Given the description of an element on the screen output the (x, y) to click on. 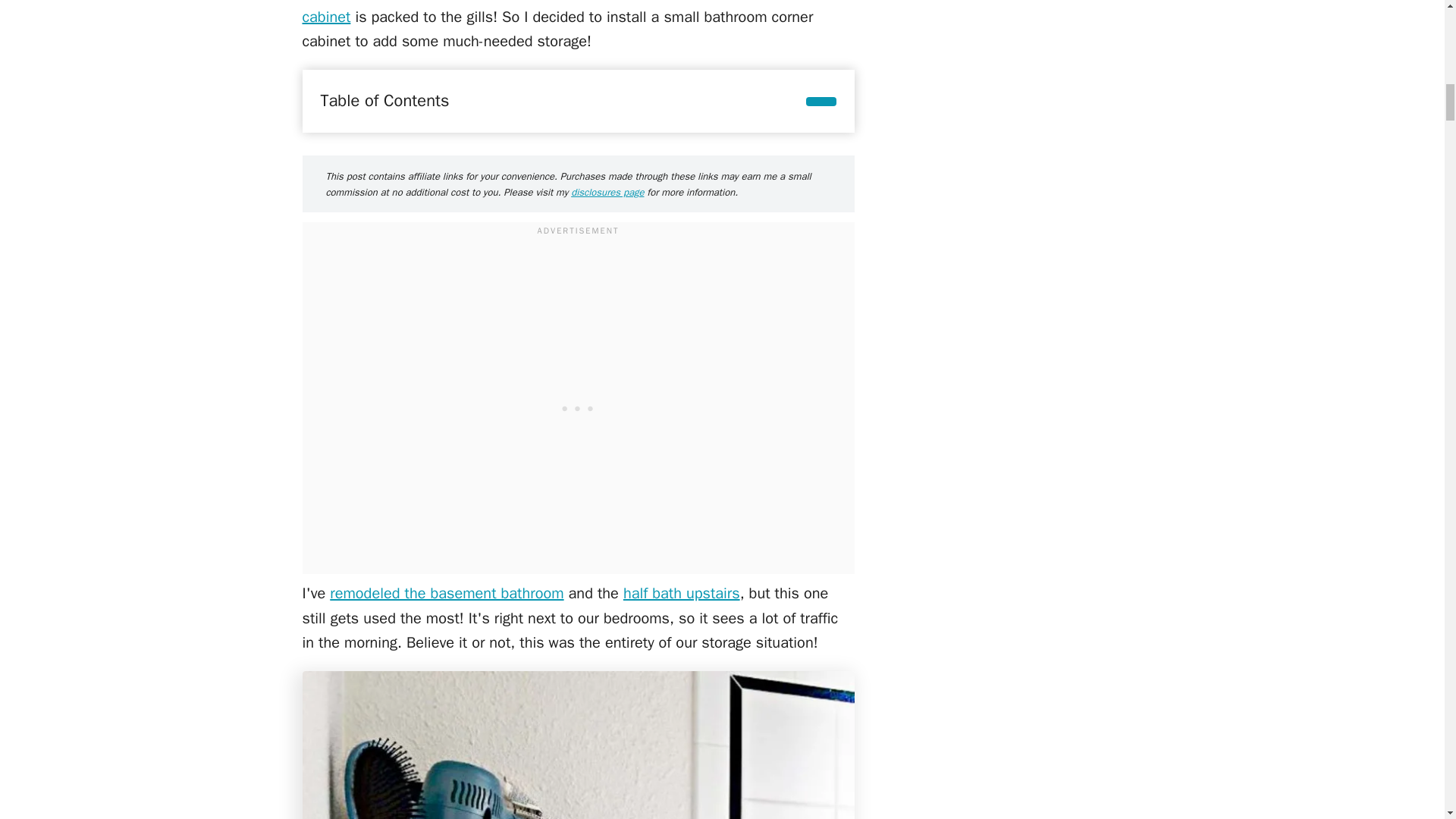
half bath upstairs (681, 592)
medicine cabinet (569, 13)
disclosures page (606, 192)
remodeled the basement bathroom (446, 592)
